Given the description of an element on the screen output the (x, y) to click on. 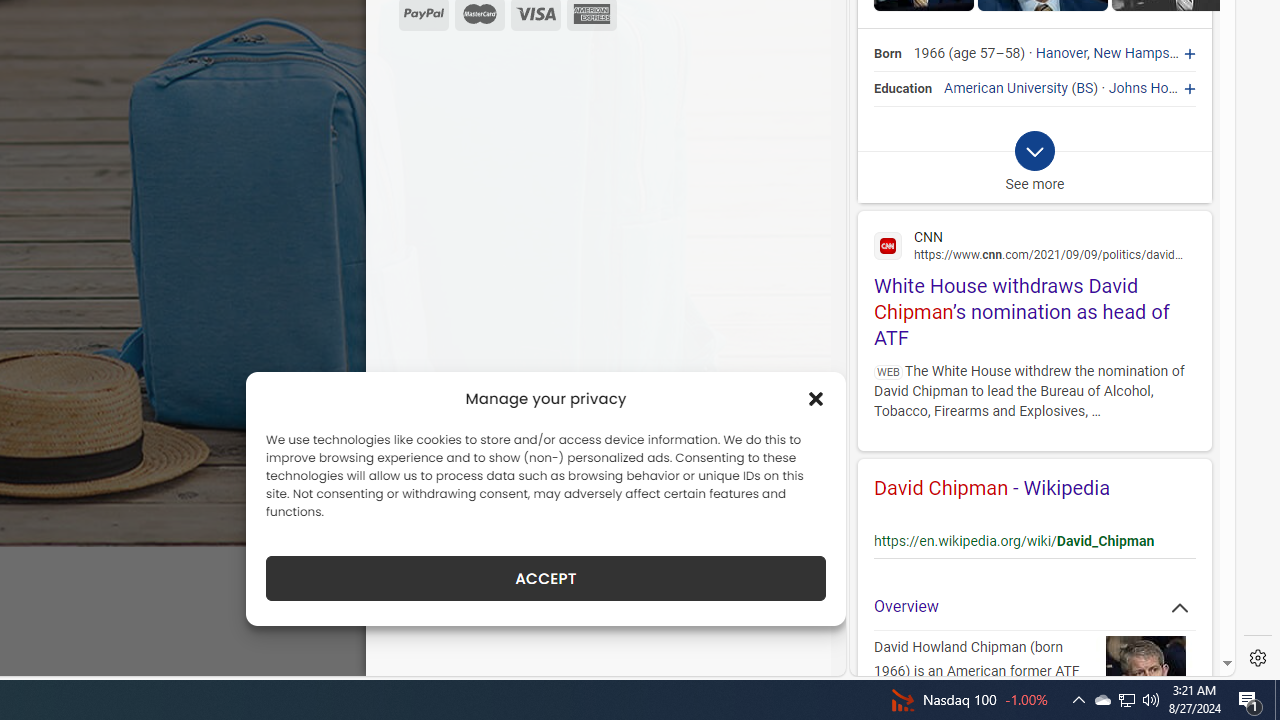
Education (903, 88)
Class: b_exp_chevron_svg b_expmob_chev (1034, 151)
CNN (1034, 244)
Actions for this site (1163, 525)
Hanover (1061, 53)
BS (1085, 88)
Settings (1258, 658)
Global web icon (888, 246)
ACCEPT (545, 578)
Johns Hopkins University (1187, 88)
New Hampshire (1142, 53)
American University (1005, 88)
See more (1034, 167)
